Given the description of an element on the screen output the (x, y) to click on. 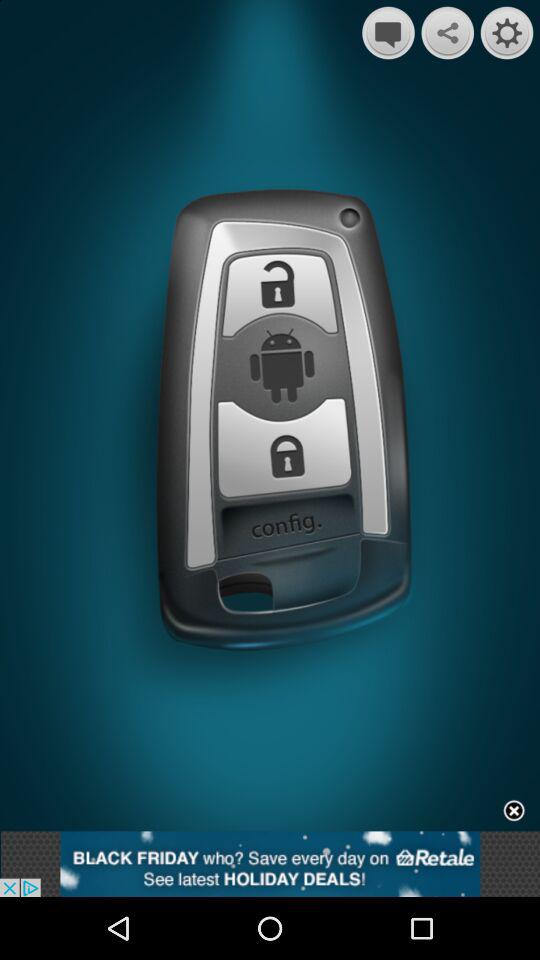
close (513, 811)
